Given the description of an element on the screen output the (x, y) to click on. 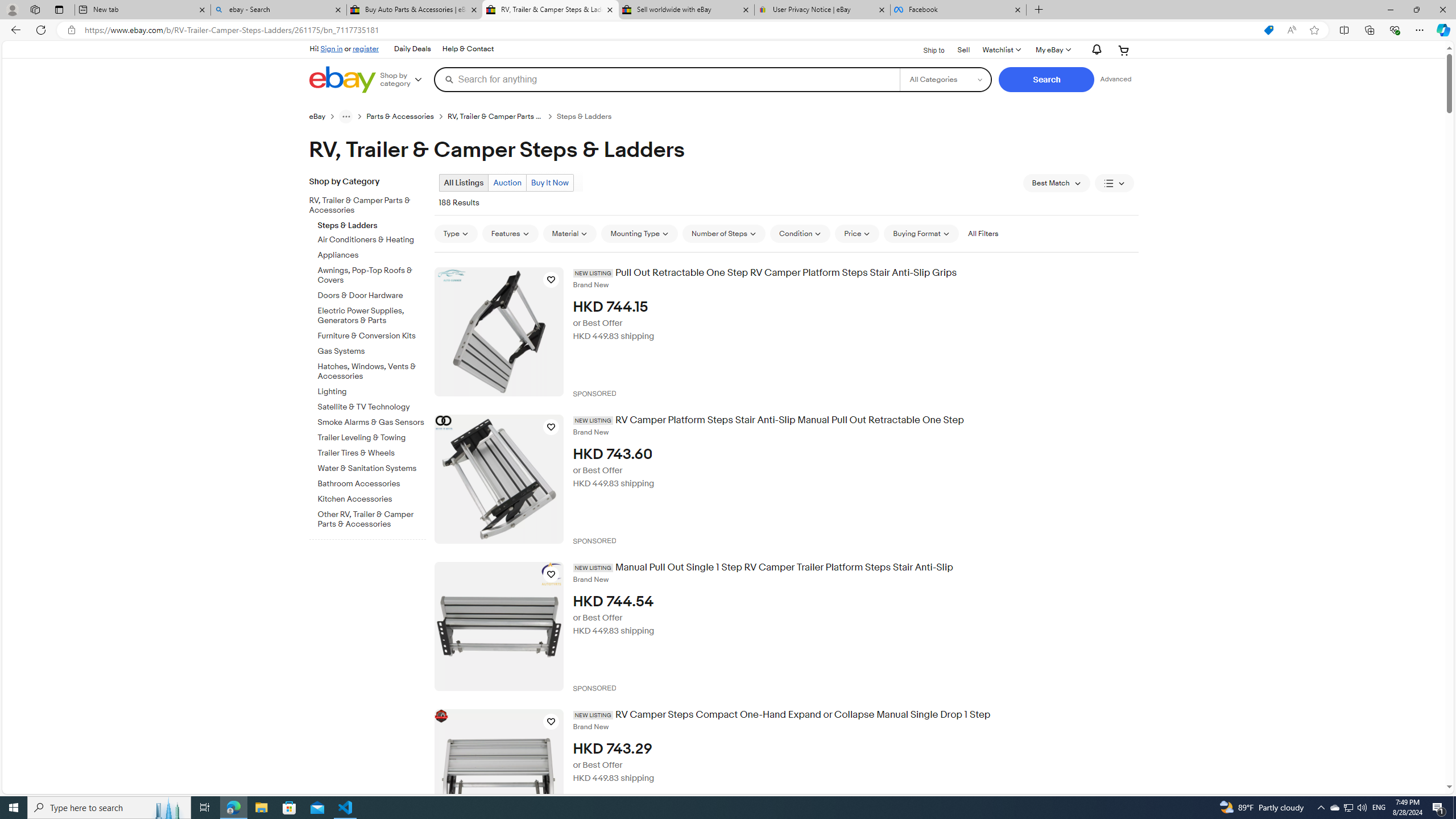
Appliances (371, 255)
Bathroom Accessories (371, 484)
Mounting Type (639, 233)
Read aloud this page (Ctrl+Shift+U) (1291, 29)
Your shopping cart (1123, 49)
Advanced Search (1115, 78)
User Privacy Notice | eBay (822, 9)
Help & Contact (467, 49)
Back (13, 29)
Select a category for search (945, 78)
Features (509, 233)
Browser essentials (1394, 29)
